Given the description of an element on the screen output the (x, y) to click on. 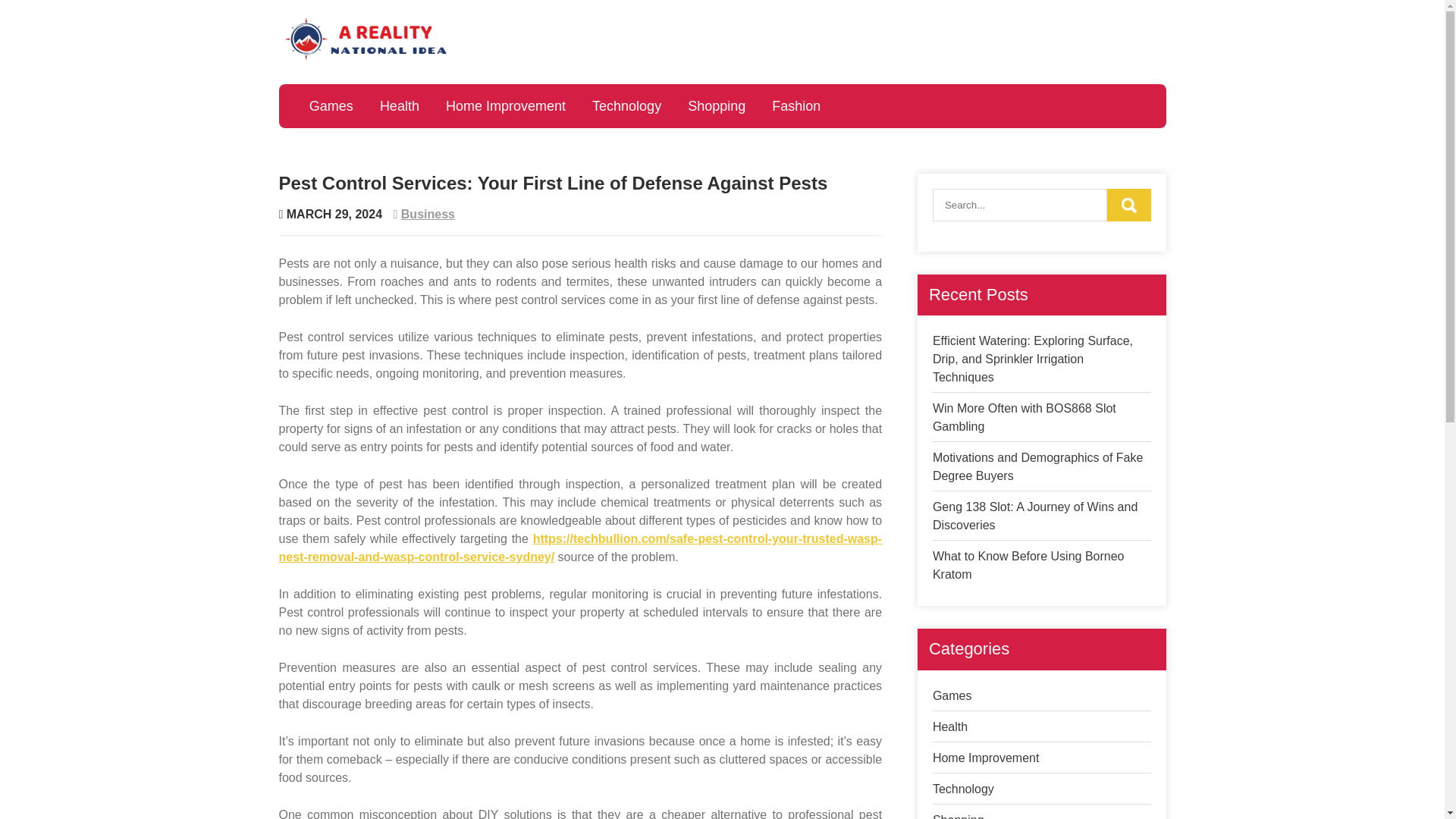
Win More Often with BOS868 Slot Gambling (1024, 417)
Shopping (717, 105)
Technology (626, 105)
What to Know Before Using Borneo Kratom (1028, 564)
Health (950, 726)
Search (1128, 205)
Technology (963, 788)
Fashion (796, 105)
Search (1128, 205)
Home Improvement (505, 105)
